Given the description of an element on the screen output the (x, y) to click on. 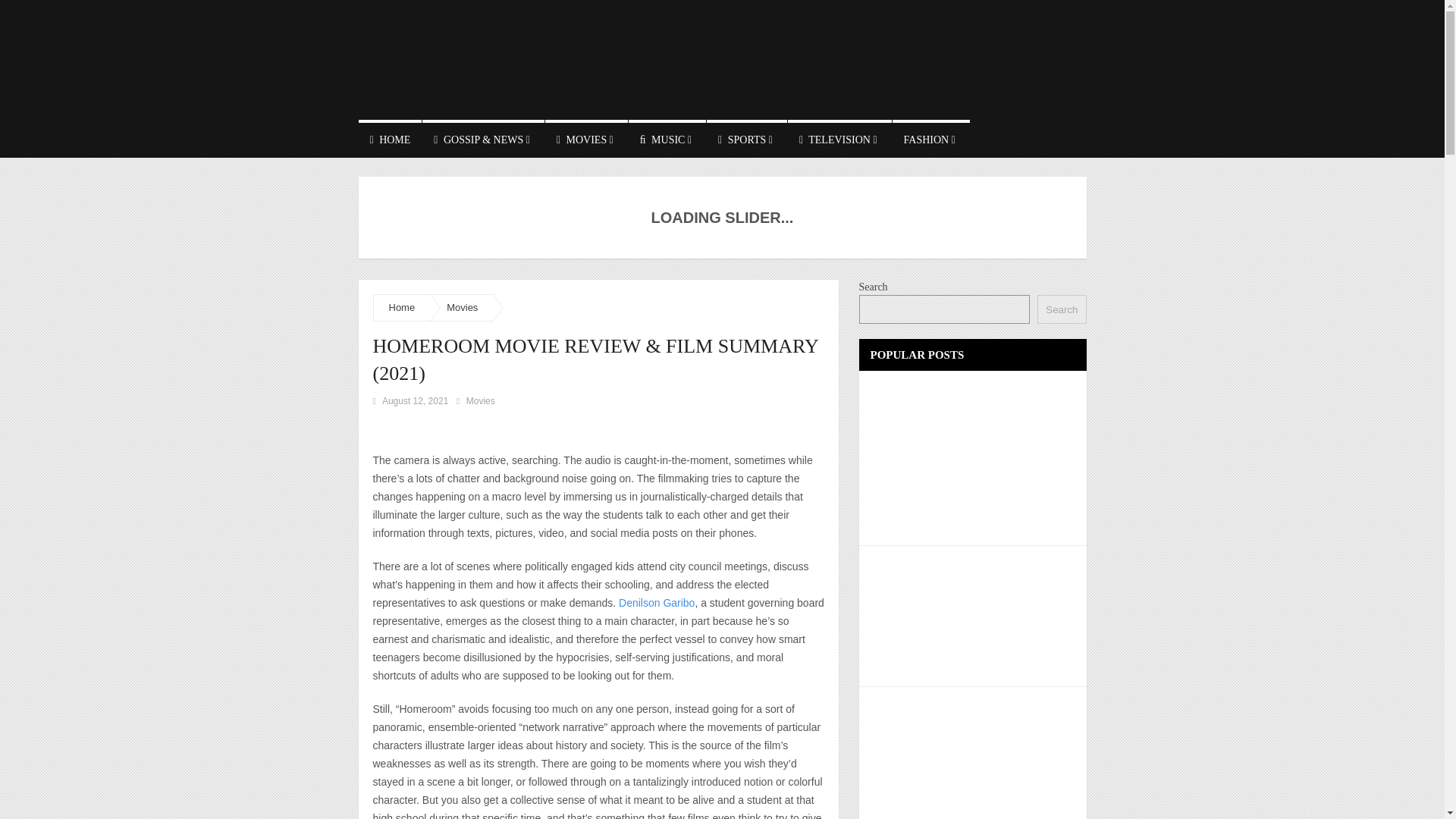
Movies (461, 307)
Home (401, 307)
MOVIES (585, 138)
FASHION (930, 138)
Denilson Garibo (656, 603)
Movies (480, 400)
SPORTS (746, 138)
HOME (390, 138)
TELEVISION (839, 138)
MUSIC (667, 138)
